Given the description of an element on the screen output the (x, y) to click on. 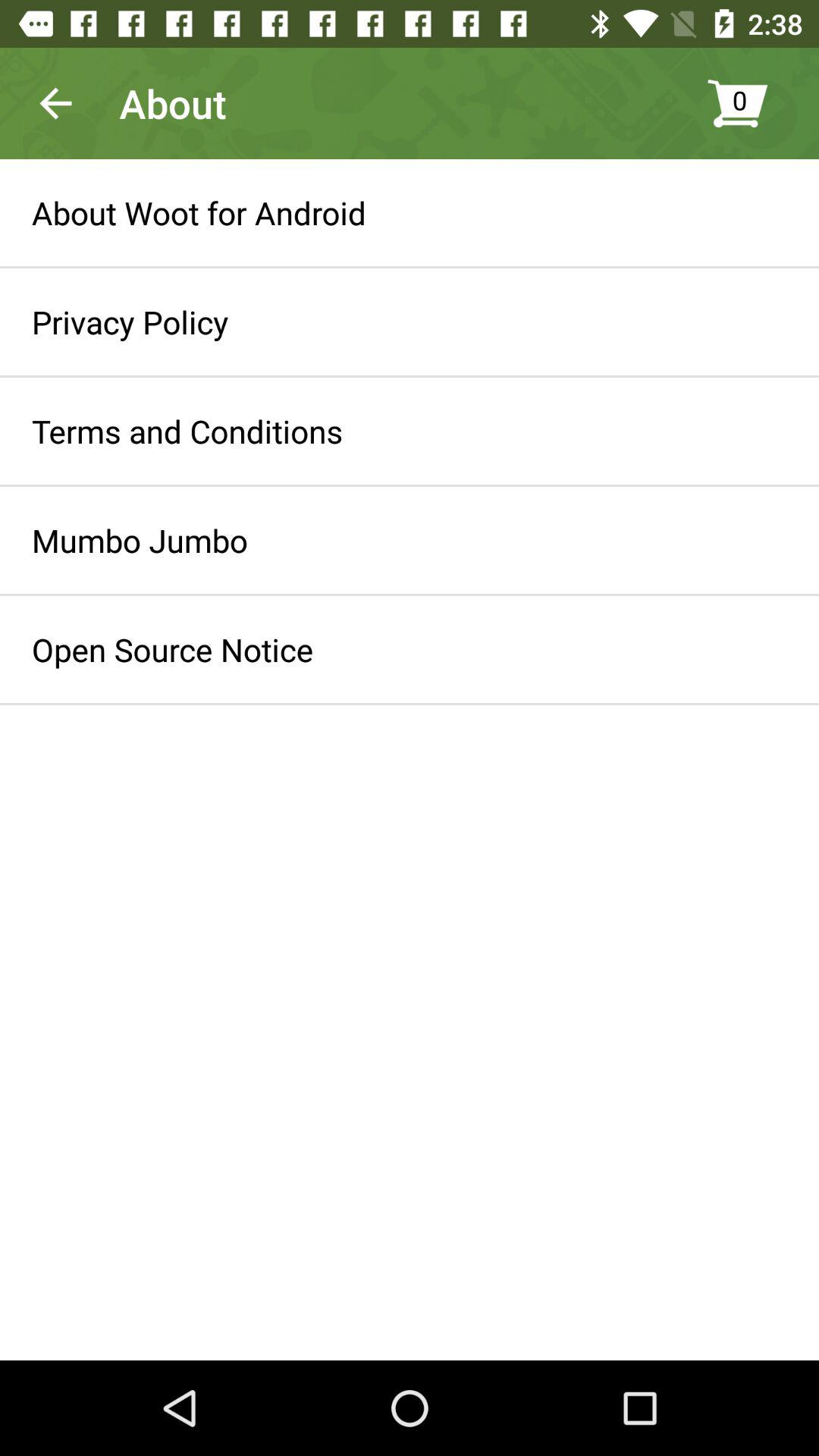
turn on the about woot for icon (198, 212)
